Given the description of an element on the screen output the (x, y) to click on. 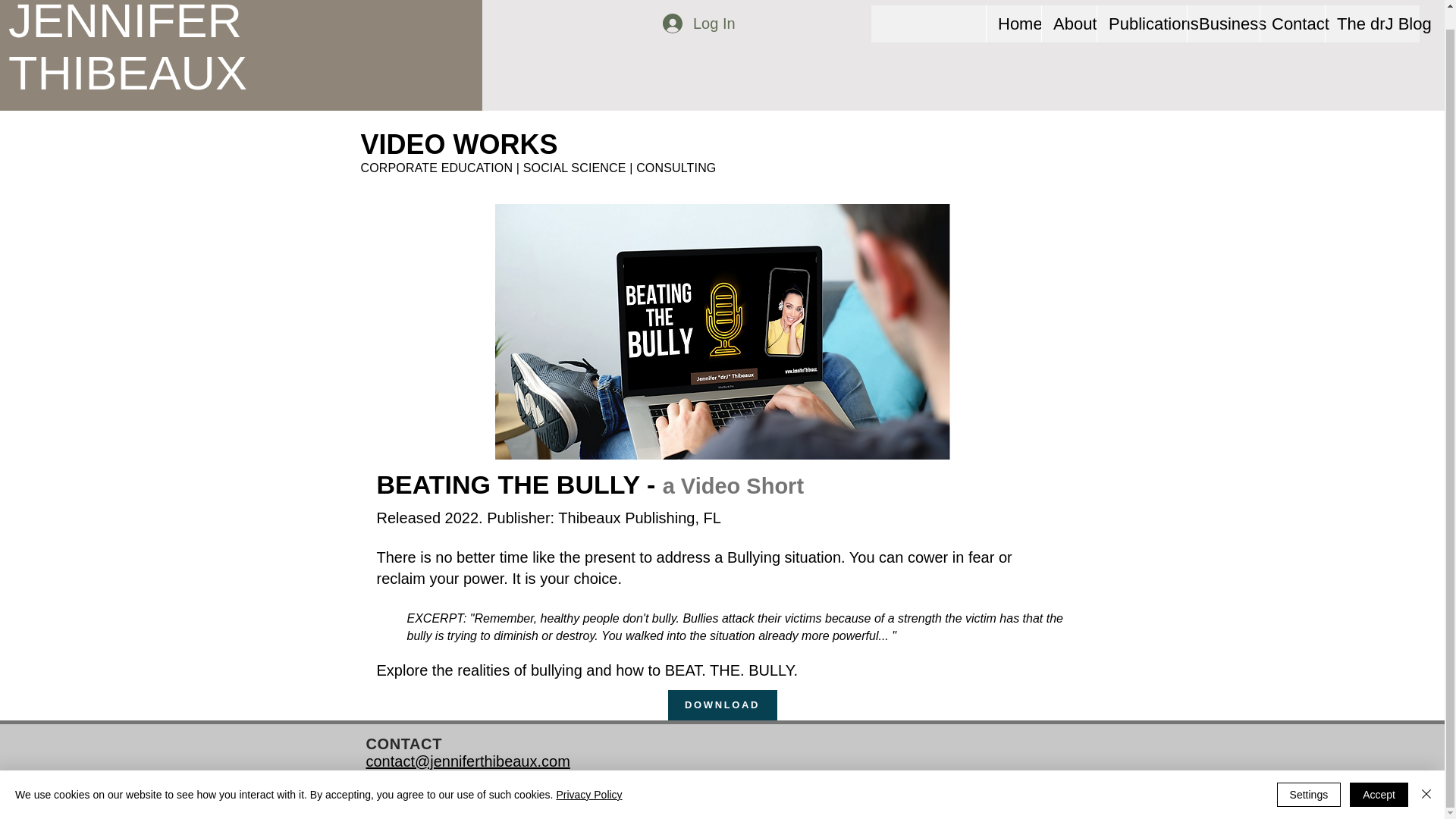
The drJ Blog (1371, 23)
PRIVACY POLICY (998, 796)
Contact (1291, 23)
Privacy Policy (588, 775)
JENNIFER THIBEAUX (127, 49)
Log In (697, 23)
DOWNLOAD (721, 705)
Kuronix (531, 802)
Home (1013, 23)
Accept (1378, 775)
Settings (1308, 775)
